Given the description of an element on the screen output the (x, y) to click on. 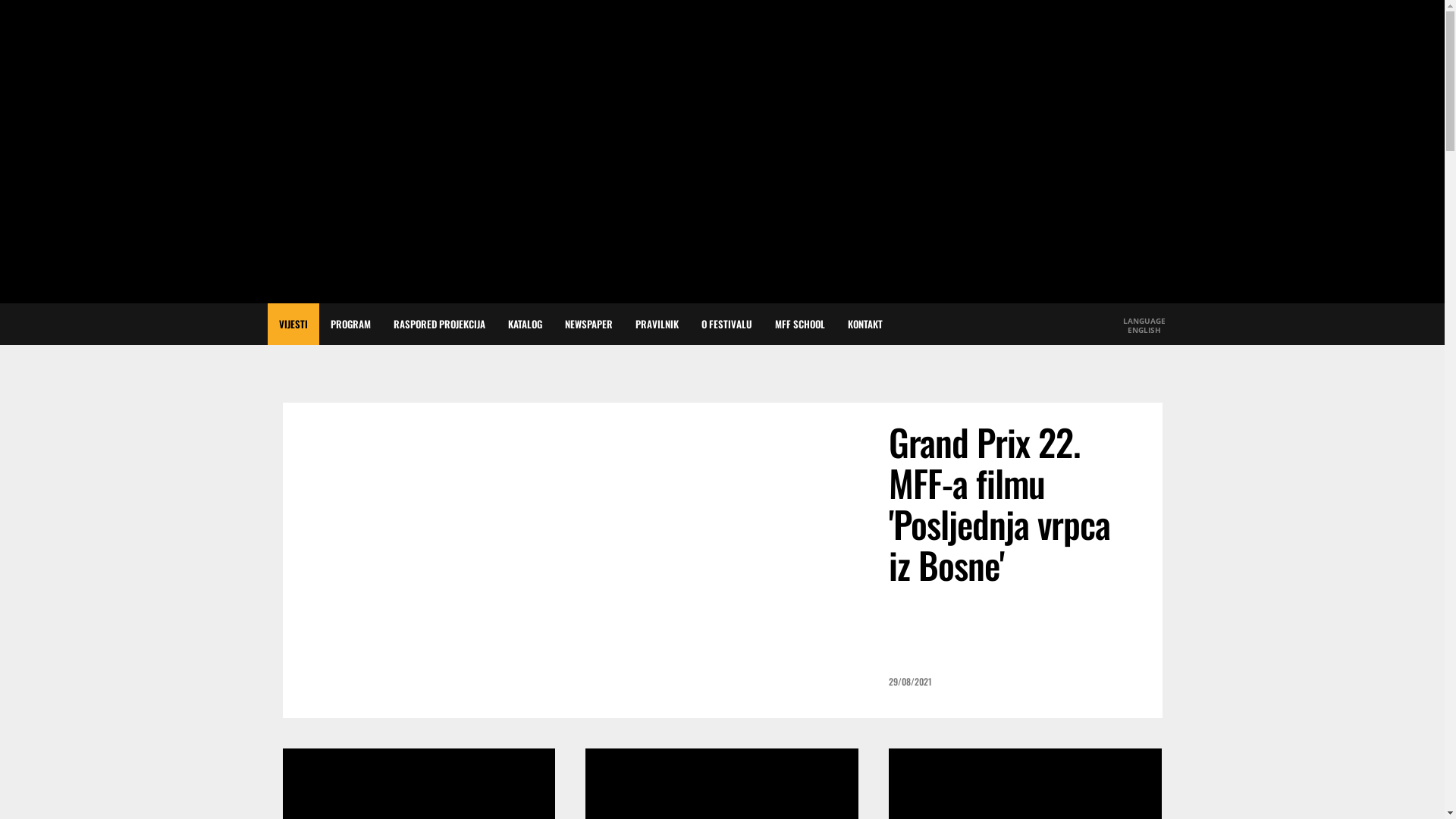
KATALOG Element type: text (523, 324)
NEWSPAPER Element type: text (588, 324)
RASPORED PROJEKCIJA Element type: text (439, 324)
PRAVILNIK Element type: text (656, 324)
MFF SCHOOL Element type: text (798, 324)
PROGRAM Element type: text (349, 324)
VIJESTI Element type: text (292, 324)
O FESTIVALU Element type: text (726, 324)
KONTAKT Element type: text (864, 324)
